Given the description of an element on the screen output the (x, y) to click on. 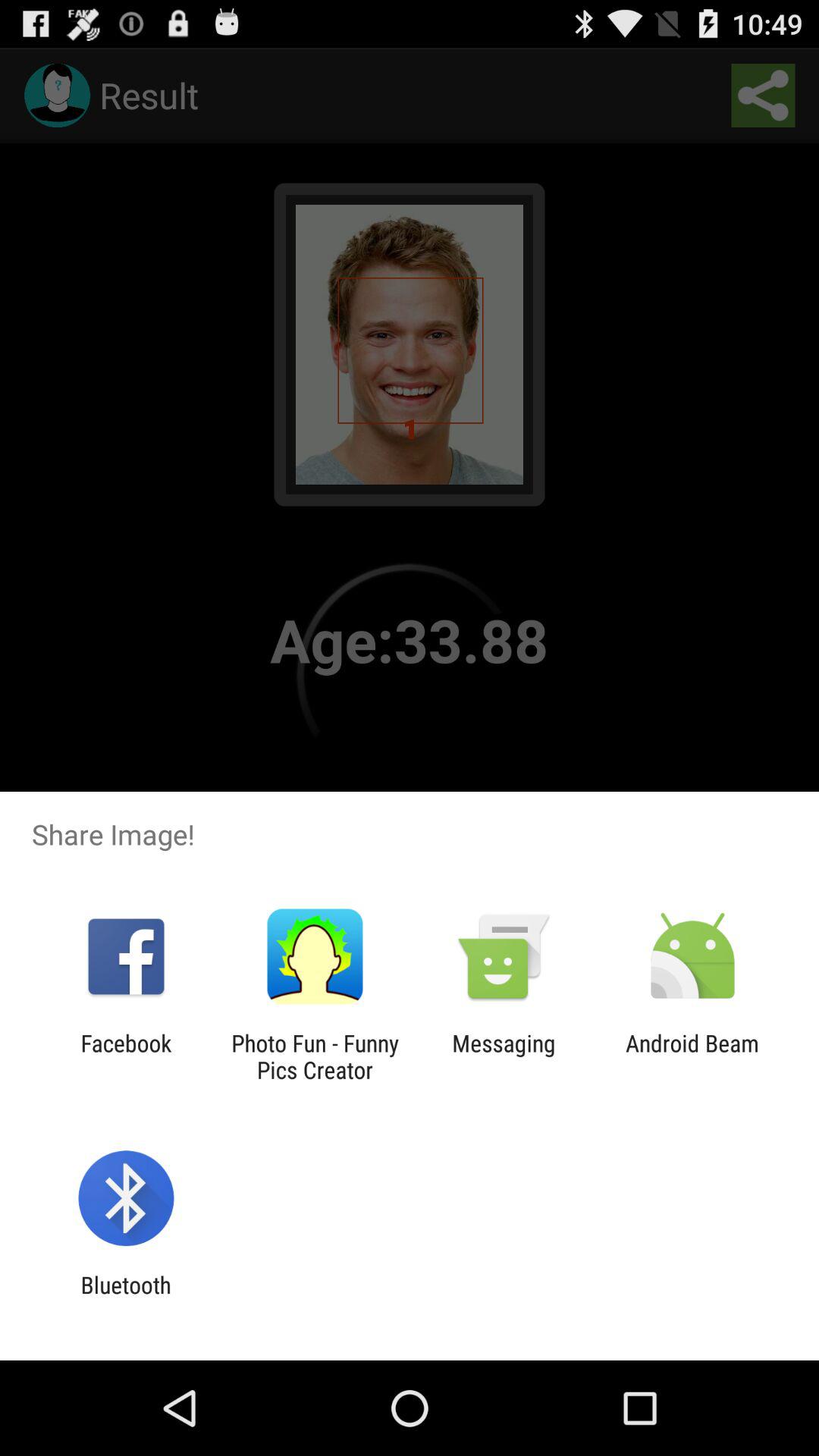
press the app to the right of the photo fun funny item (503, 1056)
